Given the description of an element on the screen output the (x, y) to click on. 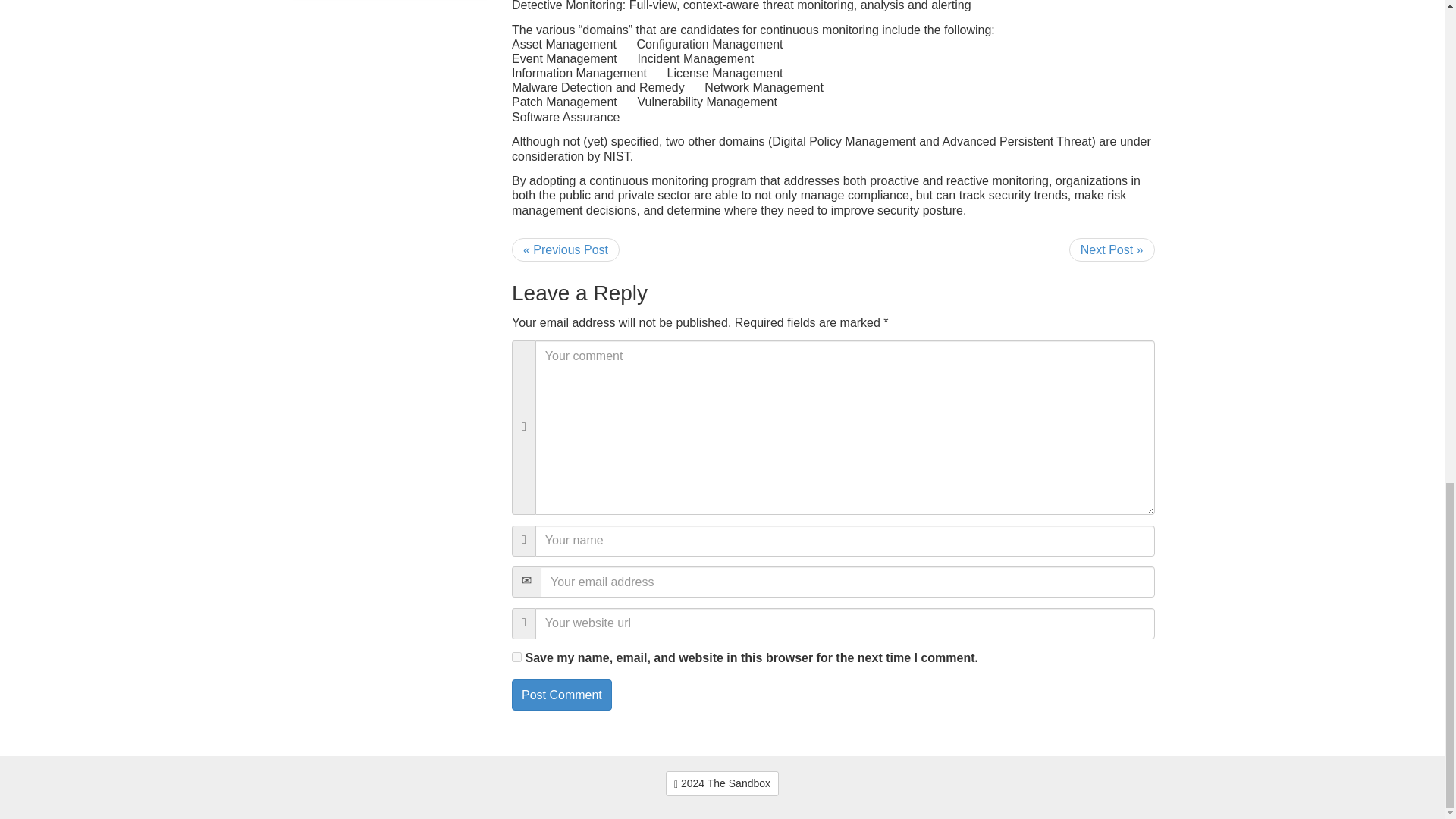
yes (516, 656)
Post Comment (561, 694)
Understanding CyberForensics (721, 783)
Post Comment (561, 694)
